Given the description of an element on the screen output the (x, y) to click on. 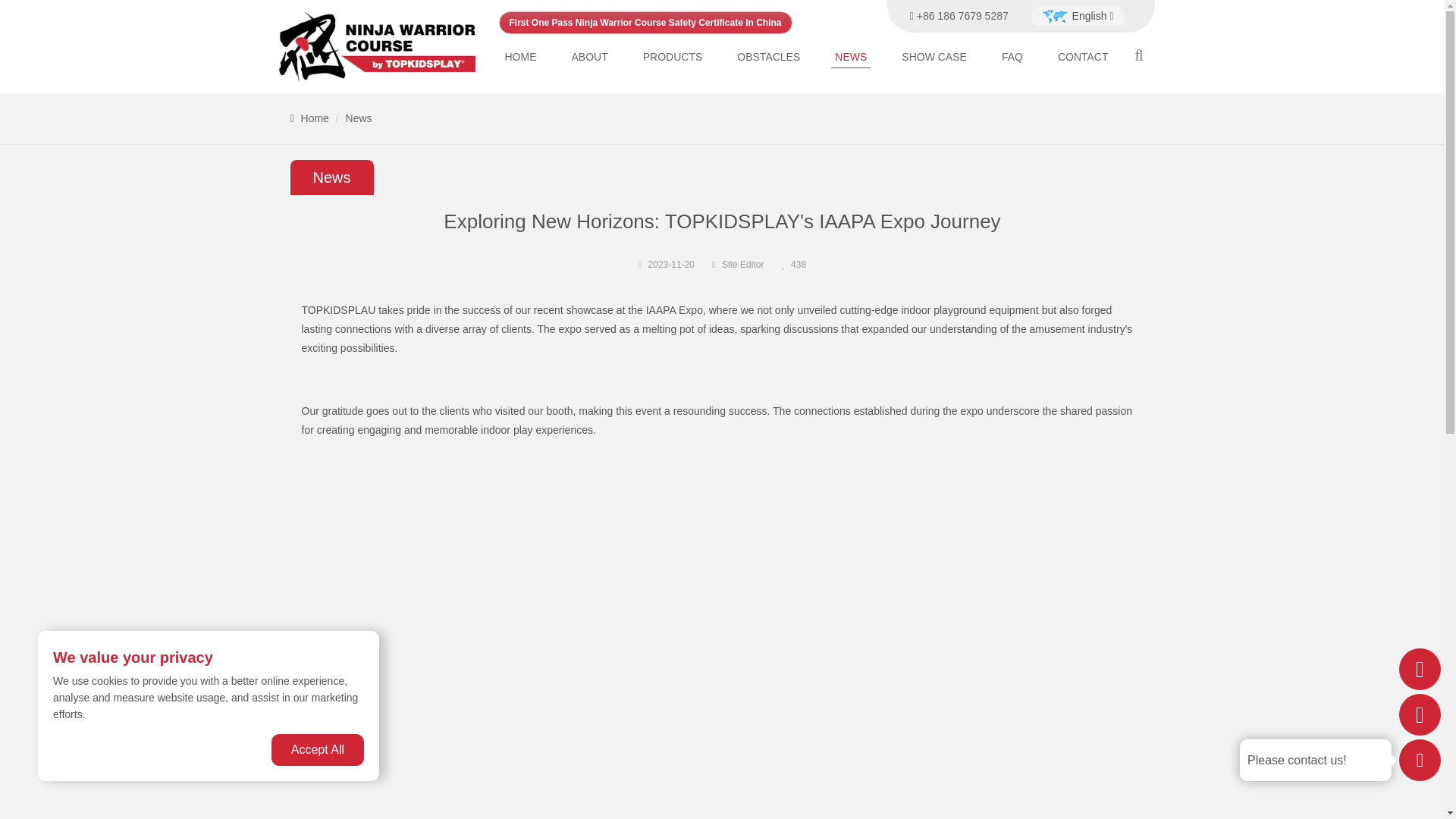
ABOUT (589, 56)
CONTACT (1083, 56)
OBSTACLES (768, 56)
SHOW CASE (934, 56)
PRODUCTS (672, 56)
NEWS (850, 56)
HOME (520, 56)
FAQ (1011, 56)
